Given the description of an element on the screen output the (x, y) to click on. 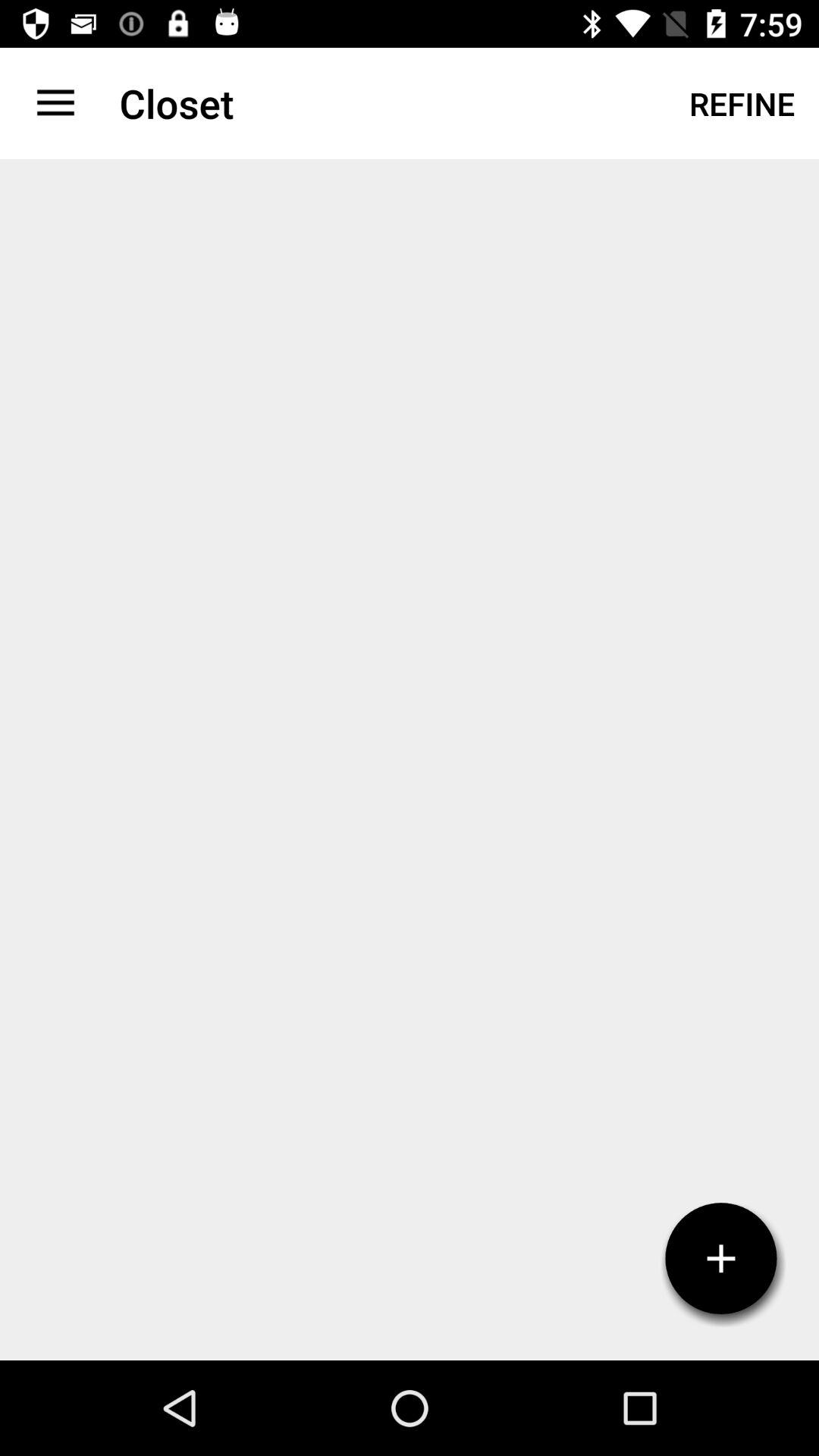
open the item to the right of closet app (742, 103)
